Given the description of an element on the screen output the (x, y) to click on. 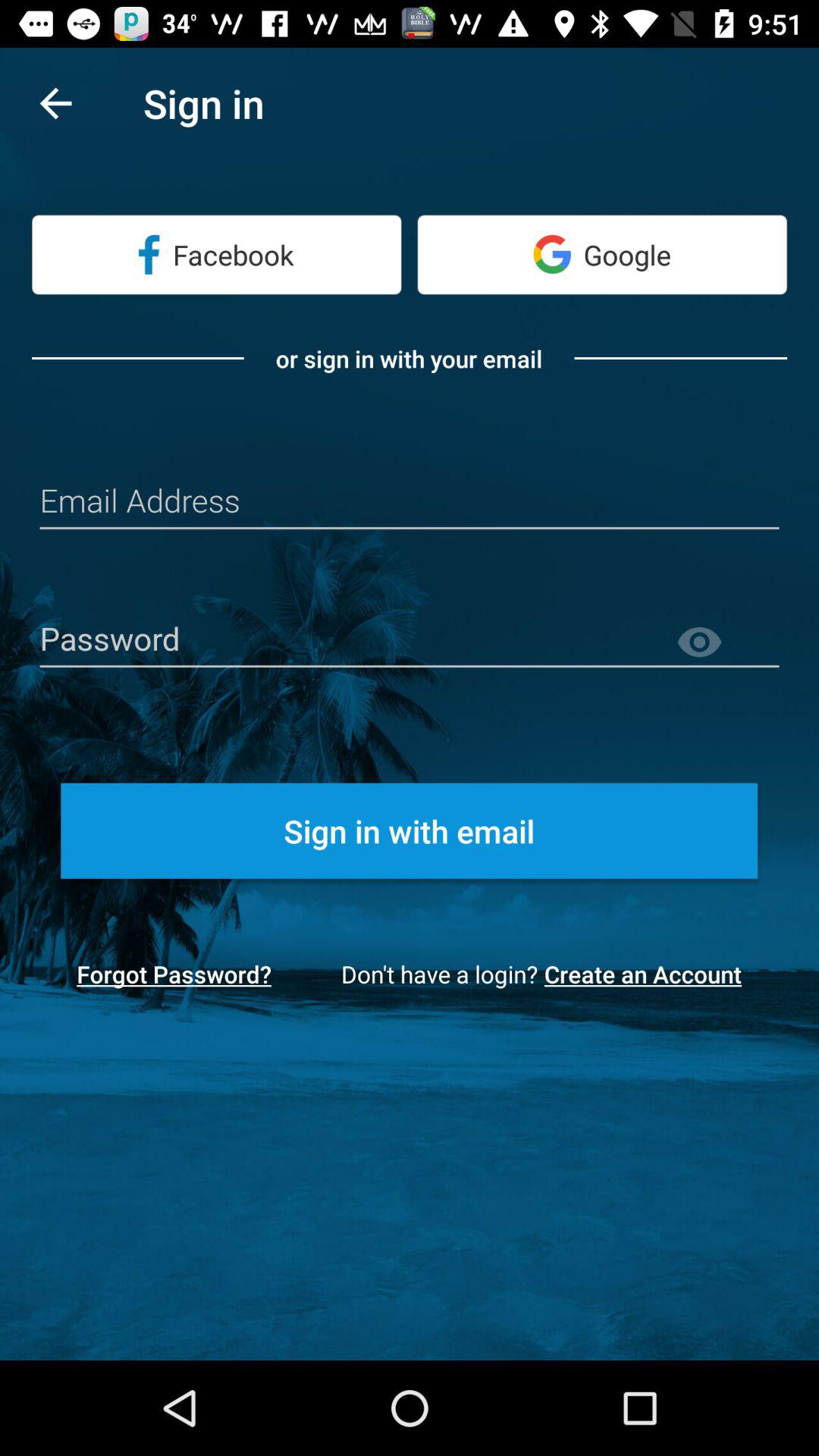
choose item above the sign in with (727, 642)
